Given the description of an element on the screen output the (x, y) to click on. 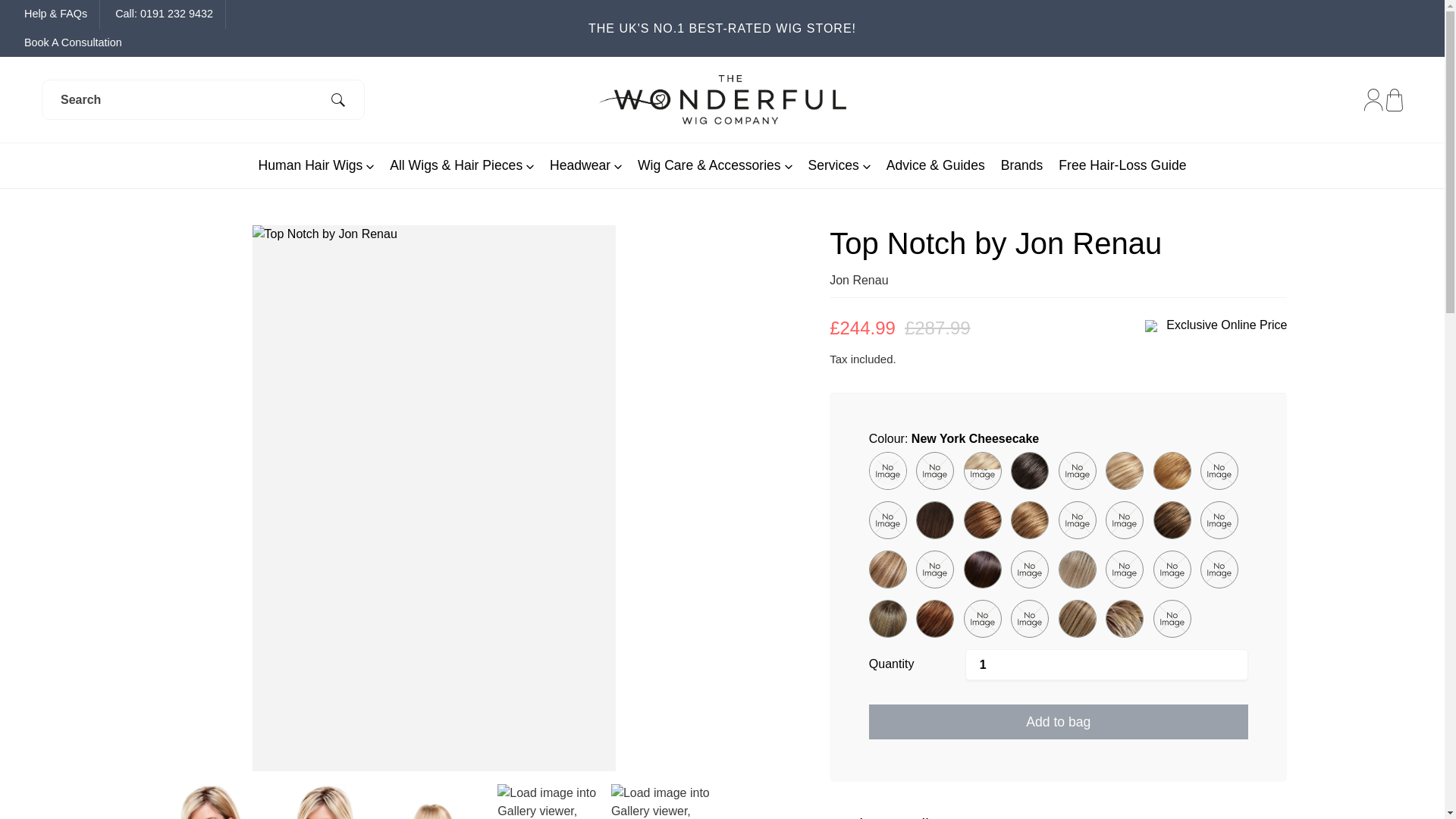
Free Hair-Loss Guide (1122, 165)
Human Hair Wigs (316, 165)
Latte (1172, 519)
Laguna Blonde (1123, 519)
Poppy Seed (982, 470)
Coffee Cake (1029, 519)
Martini (934, 569)
Call: 0191 232 9432 (164, 14)
Peach Tart (1172, 470)
Luscious Caramel (1219, 519)
